Given the description of an element on the screen output the (x, y) to click on. 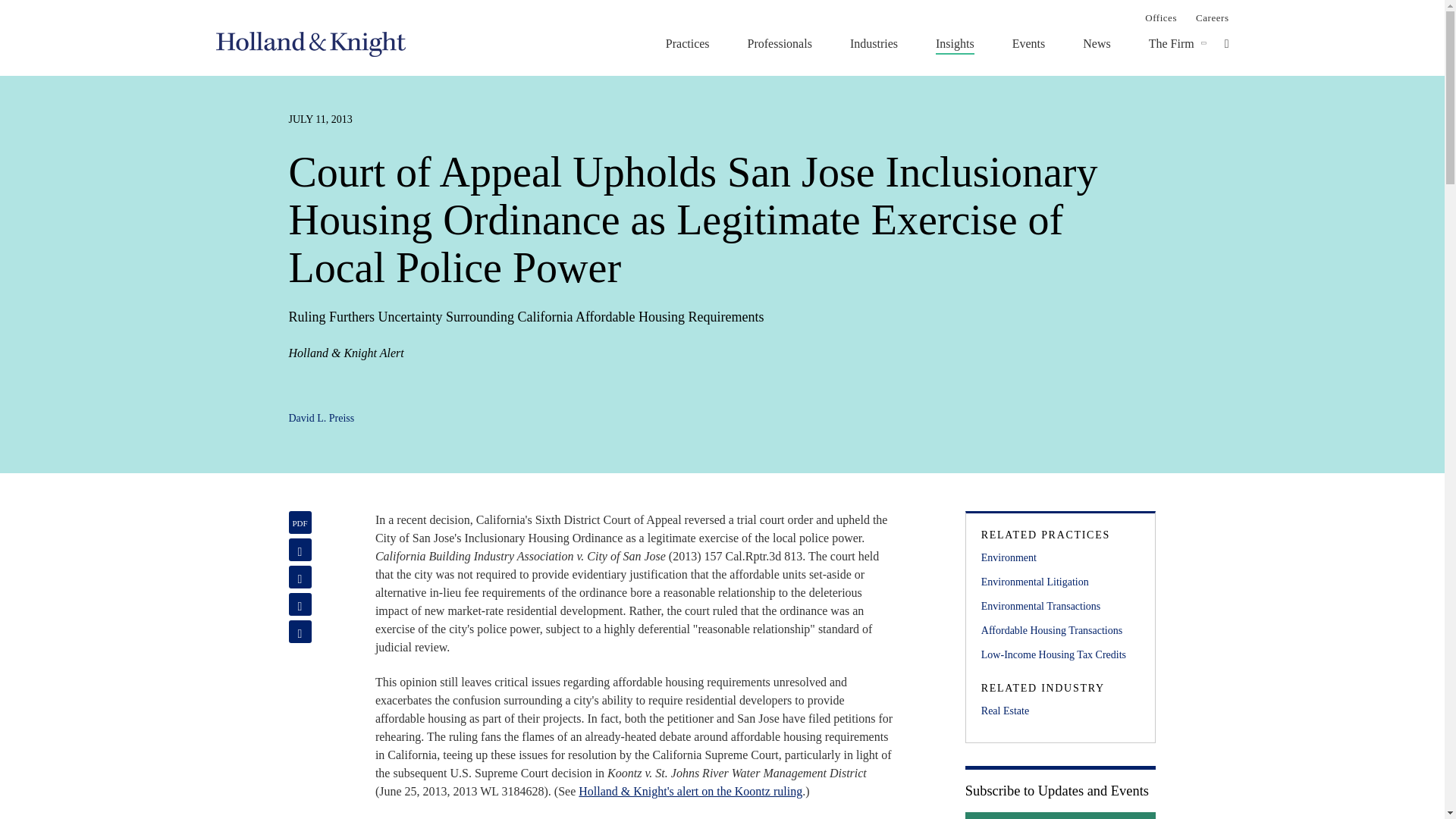
David L. Preiss (320, 418)
Practices (687, 42)
The Firm (1170, 43)
News (1096, 42)
Environmental Litigation (1060, 582)
Events (1028, 42)
Industries (874, 42)
Careers (1211, 16)
Professionals (780, 42)
Environment (1060, 557)
Insights (955, 42)
Offices (1160, 16)
